Given the description of an element on the screen output the (x, y) to click on. 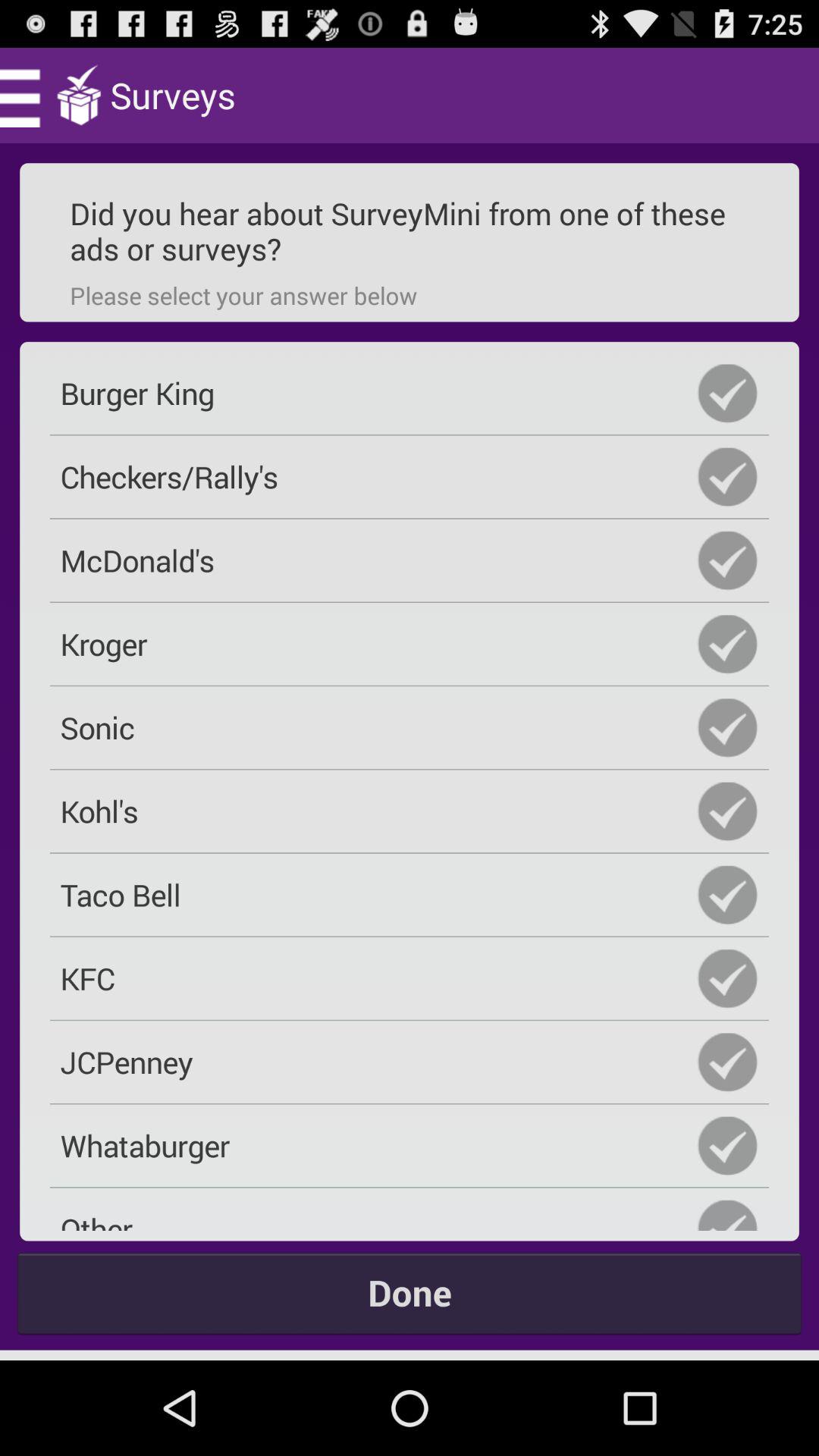
press the icon below jcpenney icon (409, 1145)
